Given the description of an element on the screen output the (x, y) to click on. 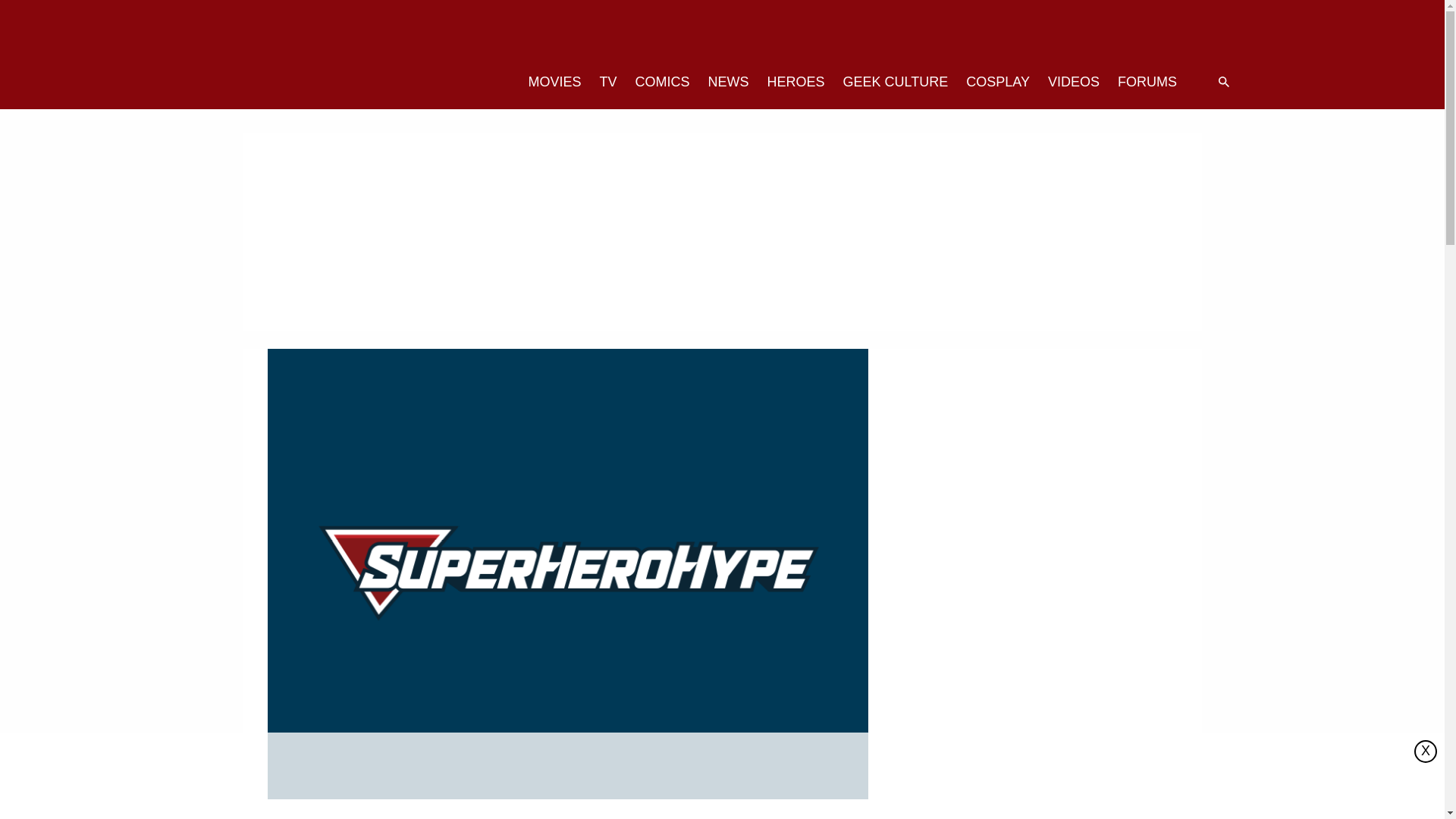
NEWS (728, 81)
MOVIES (553, 81)
Instagram (1161, 33)
COSPLAY (997, 81)
GEEK CULTURE (896, 81)
VIDEOS (1073, 81)
COMICS (662, 81)
FORUMS (1147, 81)
Twitter (1101, 33)
Facebook (1130, 33)
HEROES (796, 81)
